Given the description of an element on the screen output the (x, y) to click on. 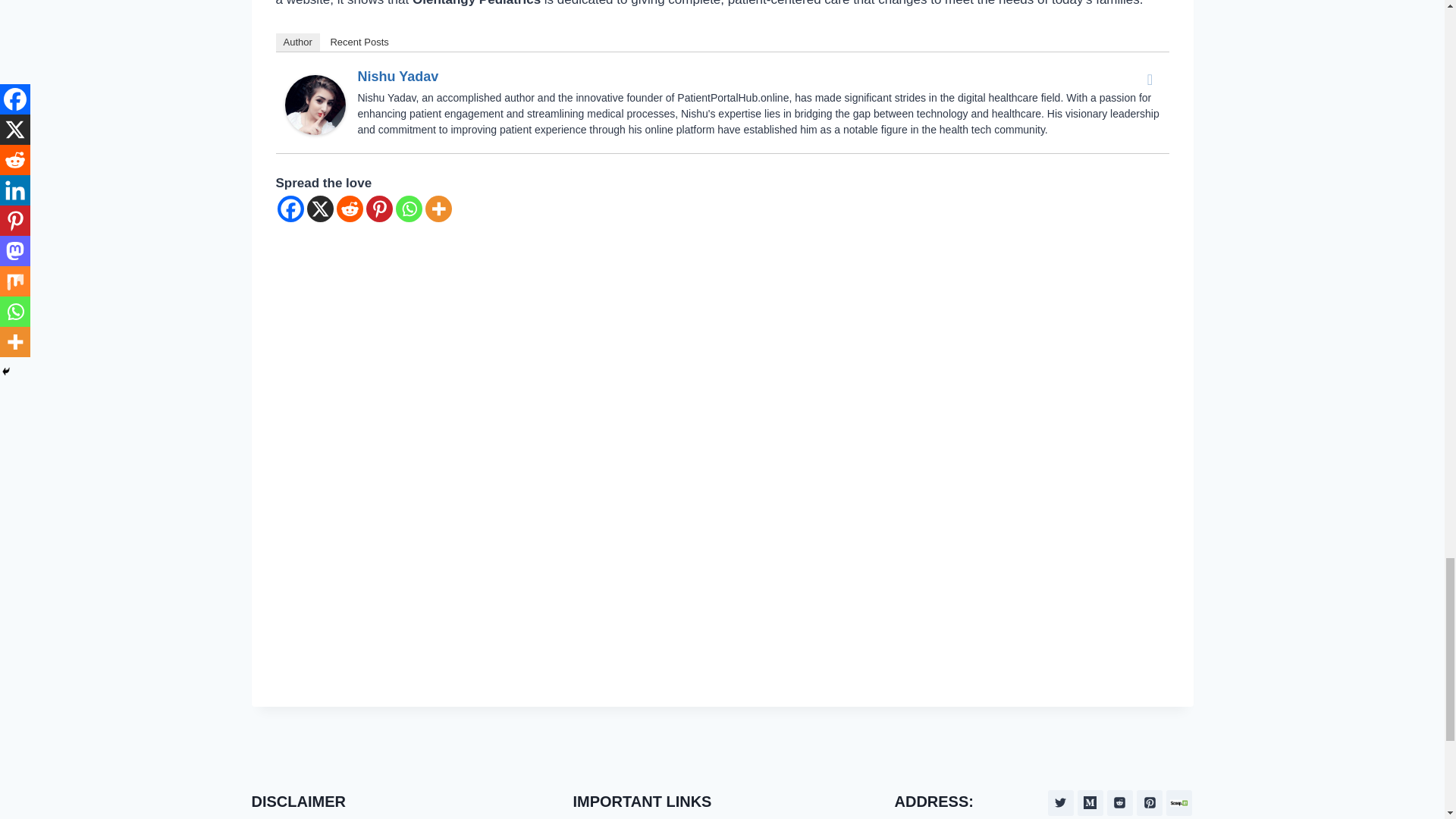
Recent Posts (358, 42)
Twitter (1149, 79)
Author (298, 42)
Nishu Yadav (315, 105)
